Given the description of an element on the screen output the (x, y) to click on. 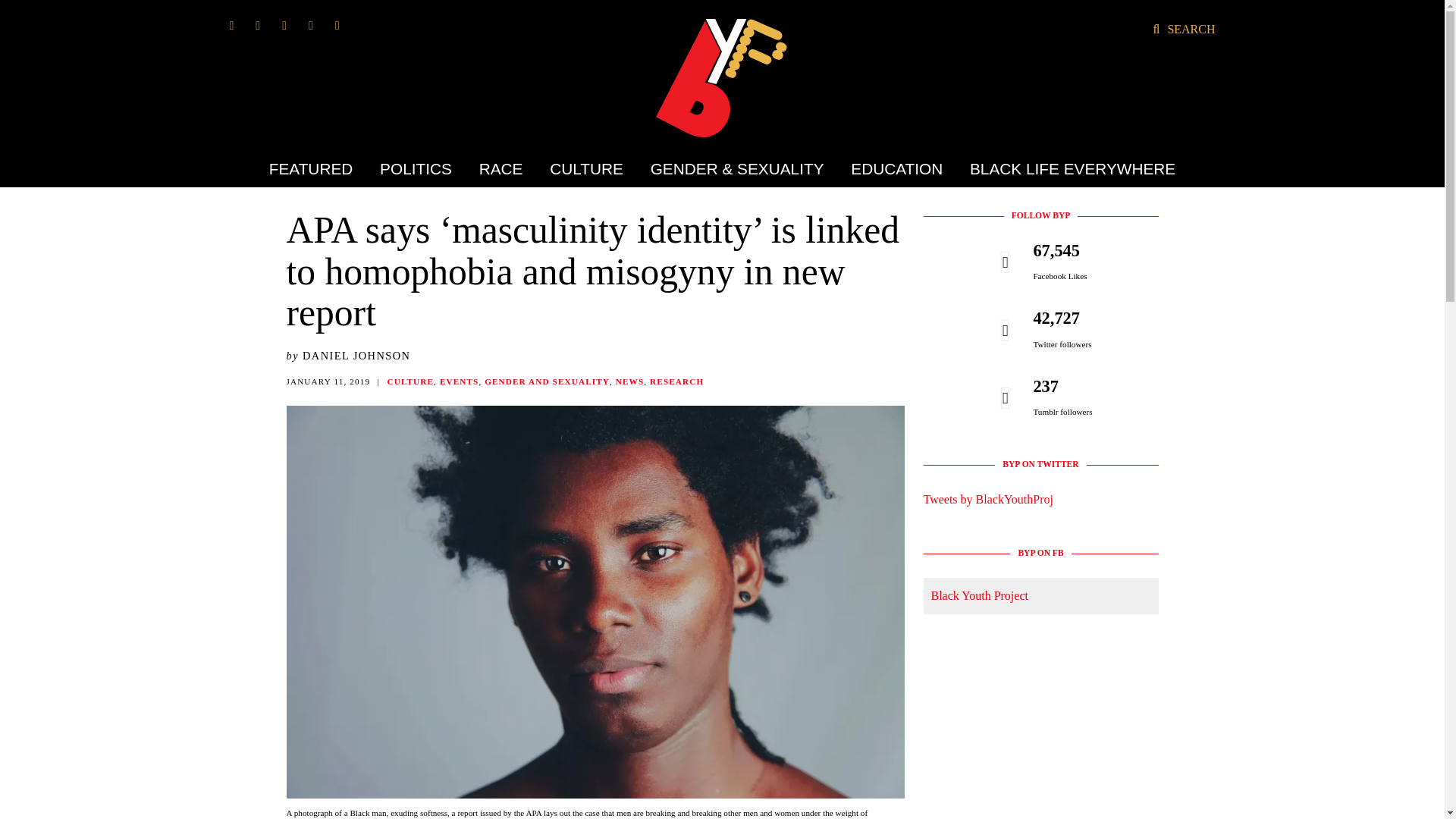
FEATURED (317, 168)
CULTURE (410, 380)
NEWS (629, 380)
RACE (500, 168)
by DANIEL JOHNSON (348, 355)
CULTURE (586, 168)
GENDER AND SEXUALITY (547, 380)
EVENTS (459, 380)
BLACK LIFE EVERYWHERE (1066, 168)
SEARCH (1183, 29)
